Given the description of an element on the screen output the (x, y) to click on. 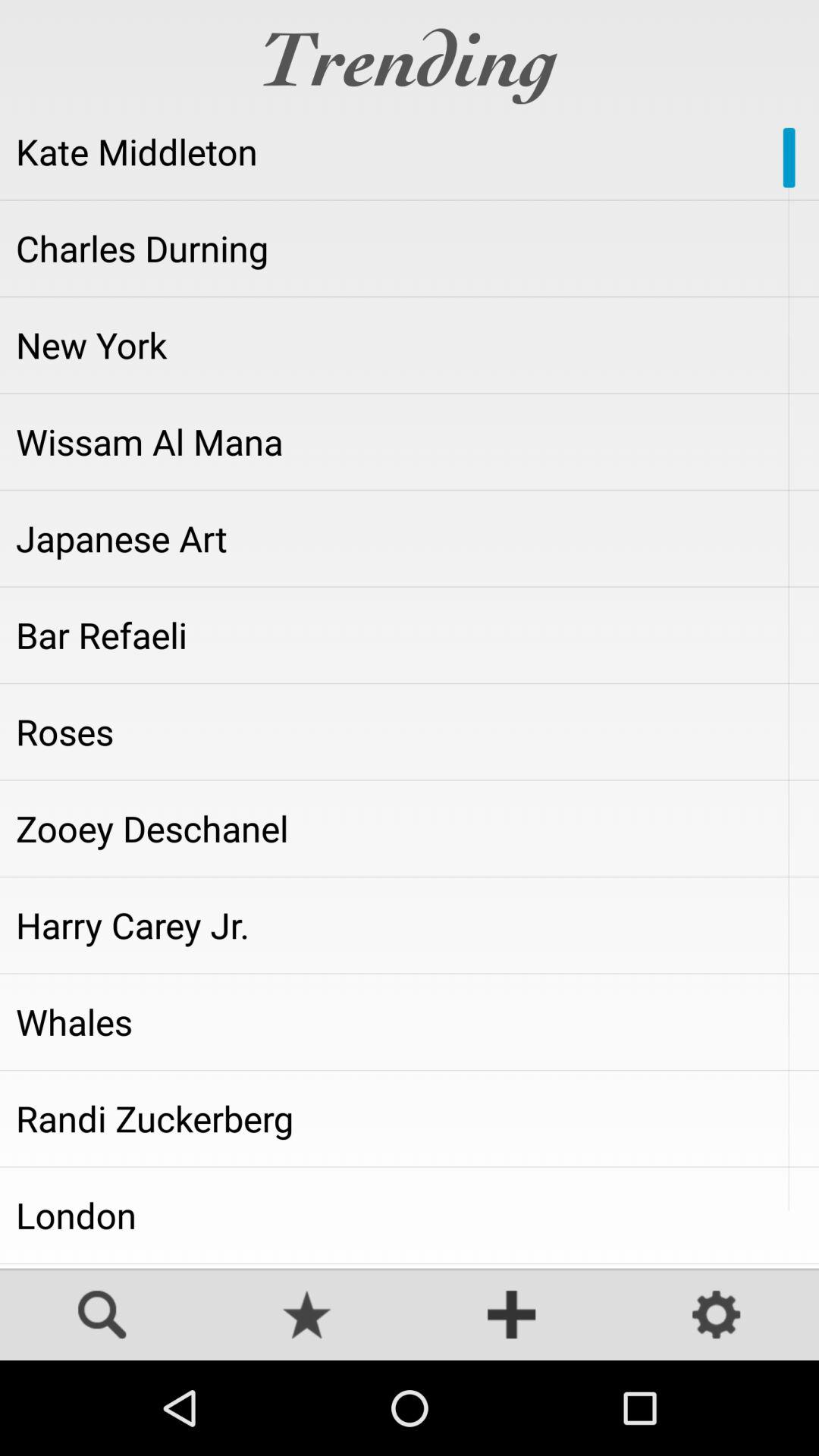
more options (511, 1316)
